Given the description of an element on the screen output the (x, y) to click on. 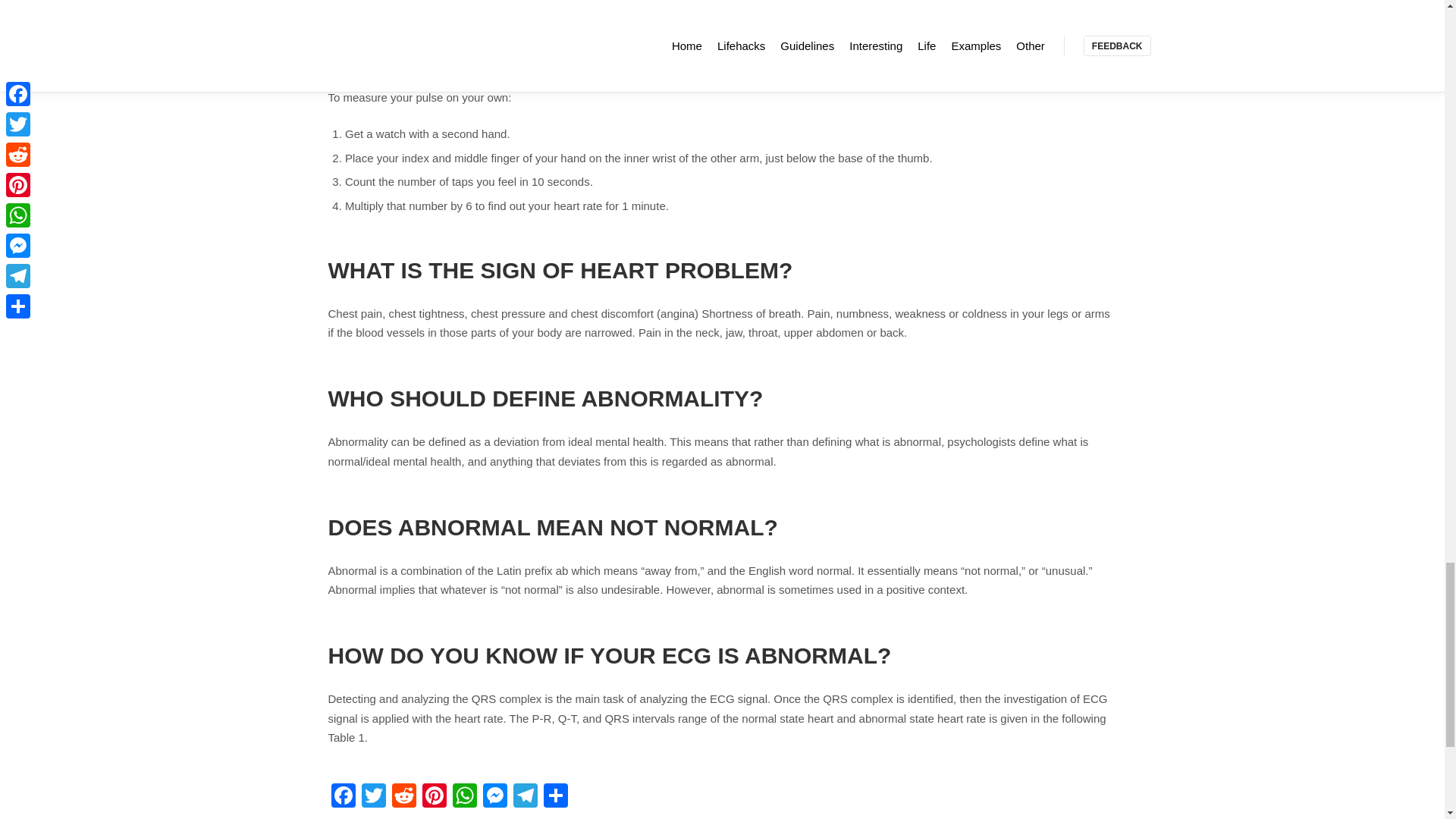
Pinterest (433, 796)
Telegram (524, 796)
Reddit (403, 796)
Pinterest (433, 796)
Telegram (524, 796)
WhatsApp (463, 796)
Messenger (494, 796)
Facebook (342, 796)
Facebook (342, 796)
WhatsApp (463, 796)
